Given the description of an element on the screen output the (x, y) to click on. 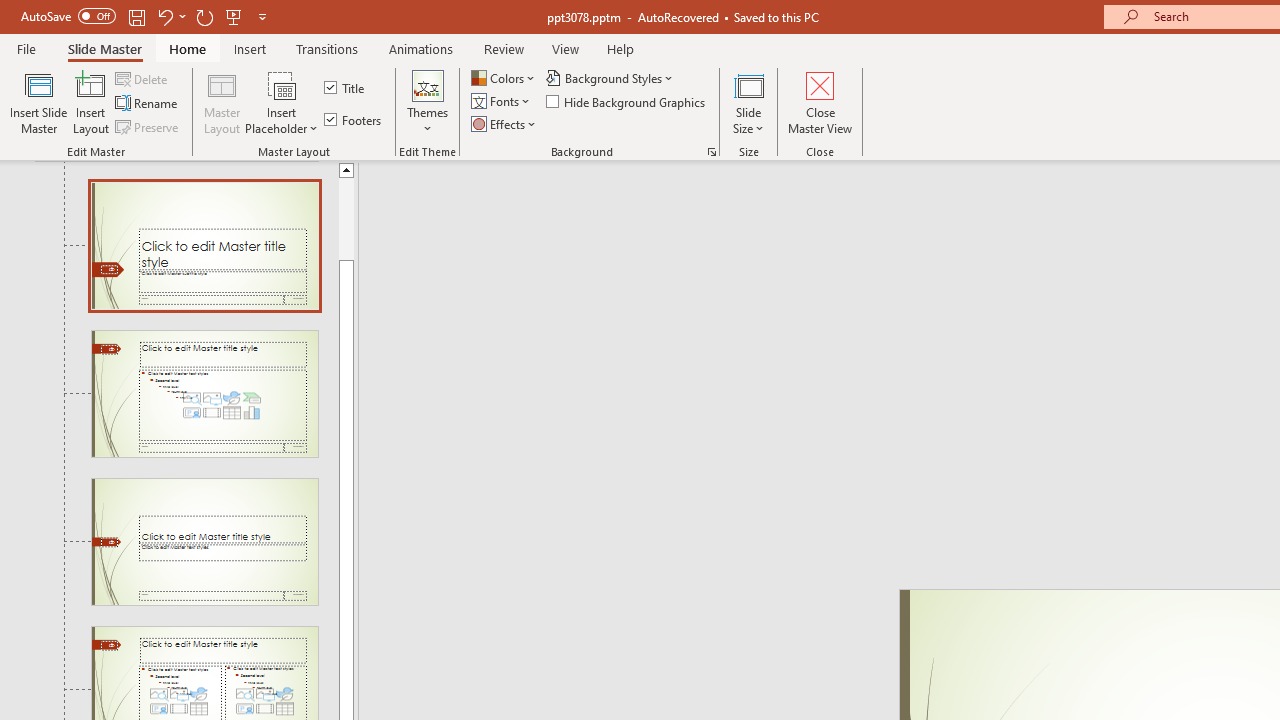
Delete (143, 78)
Slide Title Slide Layout: used by slide(s) 1 (204, 245)
Close Master View (820, 102)
Format Background... (711, 151)
Slide Master (104, 48)
Page up (345, 218)
Insert Placeholder (282, 102)
Footers (354, 119)
